Given the description of an element on the screen output the (x, y) to click on. 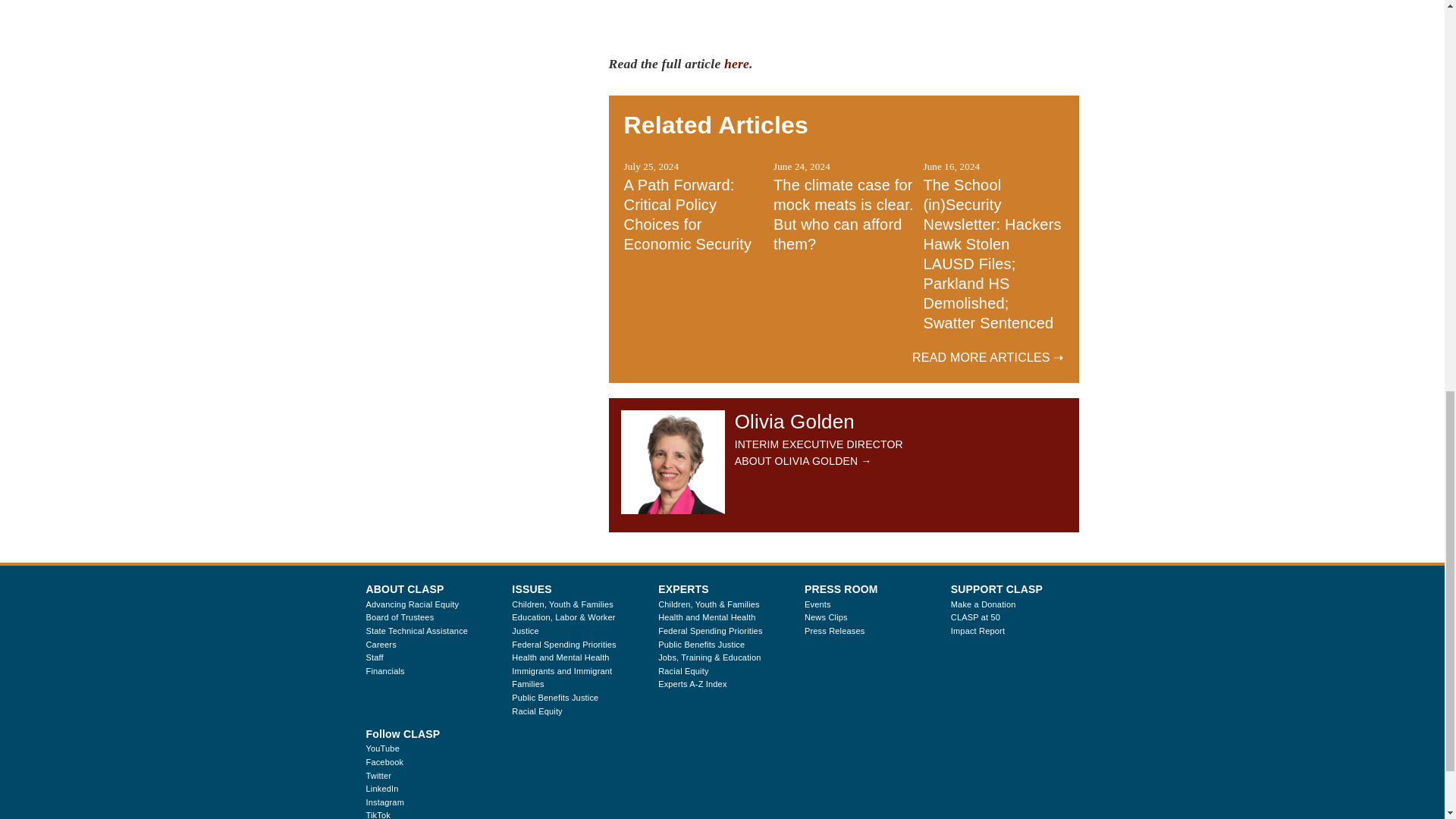
Olivia Golden (673, 462)
